Given the description of an element on the screen output the (x, y) to click on. 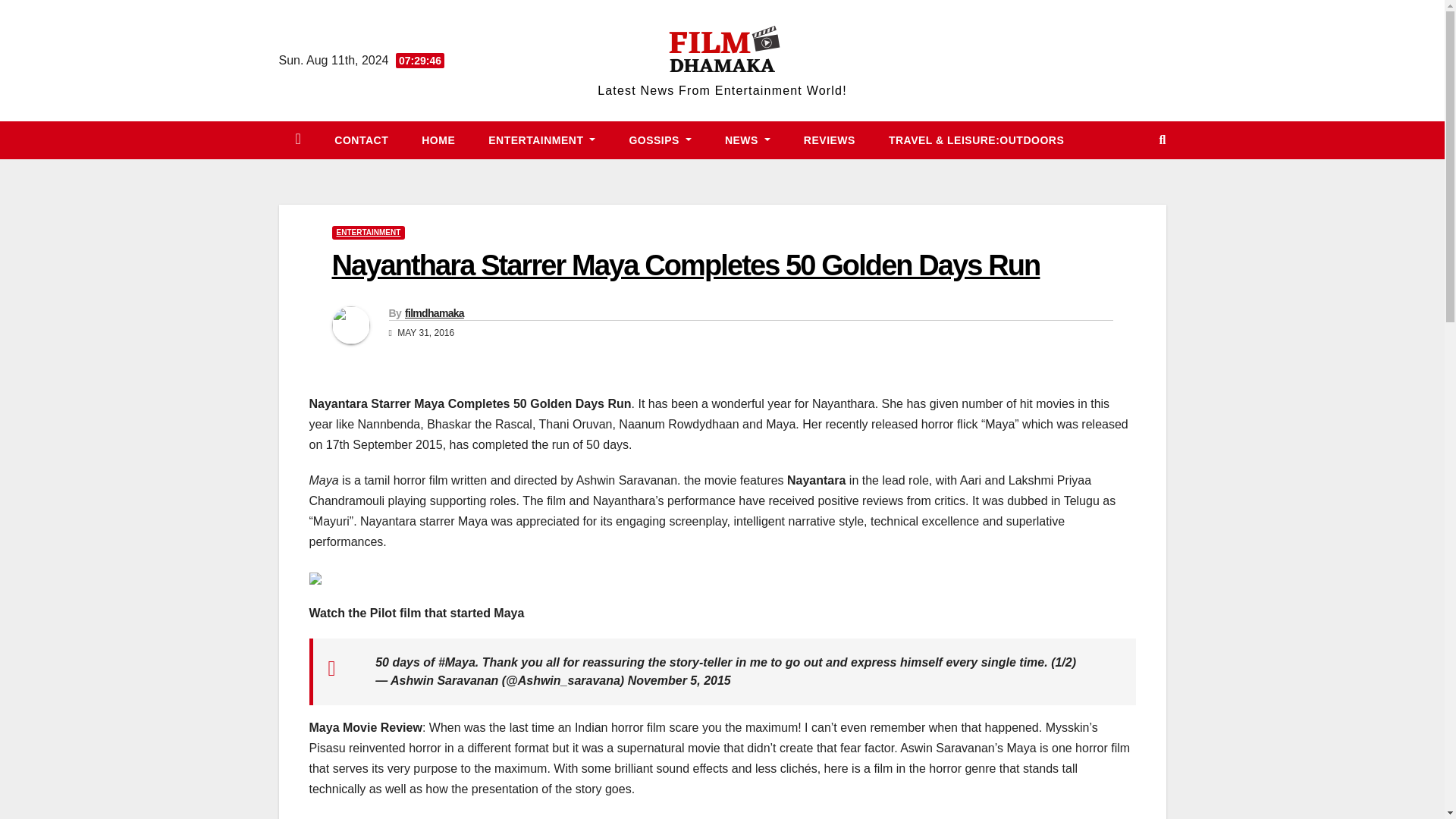
ENTERTAINMENT (541, 139)
NEWS (747, 139)
CONTACT (360, 139)
REVIEWS (829, 139)
HOME (437, 139)
Entertainment (541, 139)
GOSSIPS (659, 139)
Home (437, 139)
filmdhamaka (434, 313)
ENTERTAINMENT (368, 232)
